Given the description of an element on the screen output the (x, y) to click on. 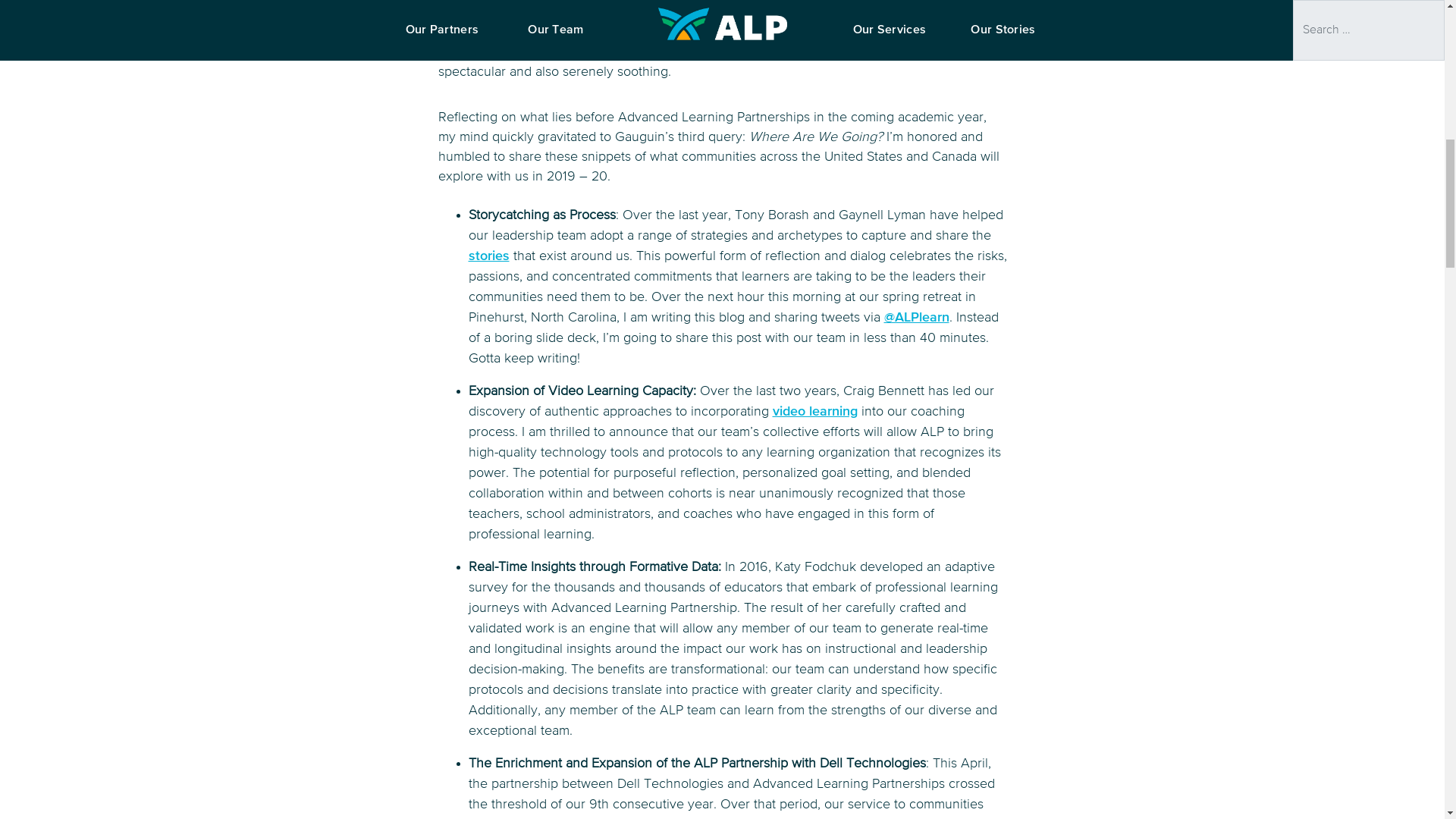
video learning (814, 411)
stories (488, 255)
